Given the description of an element on the screen output the (x, y) to click on. 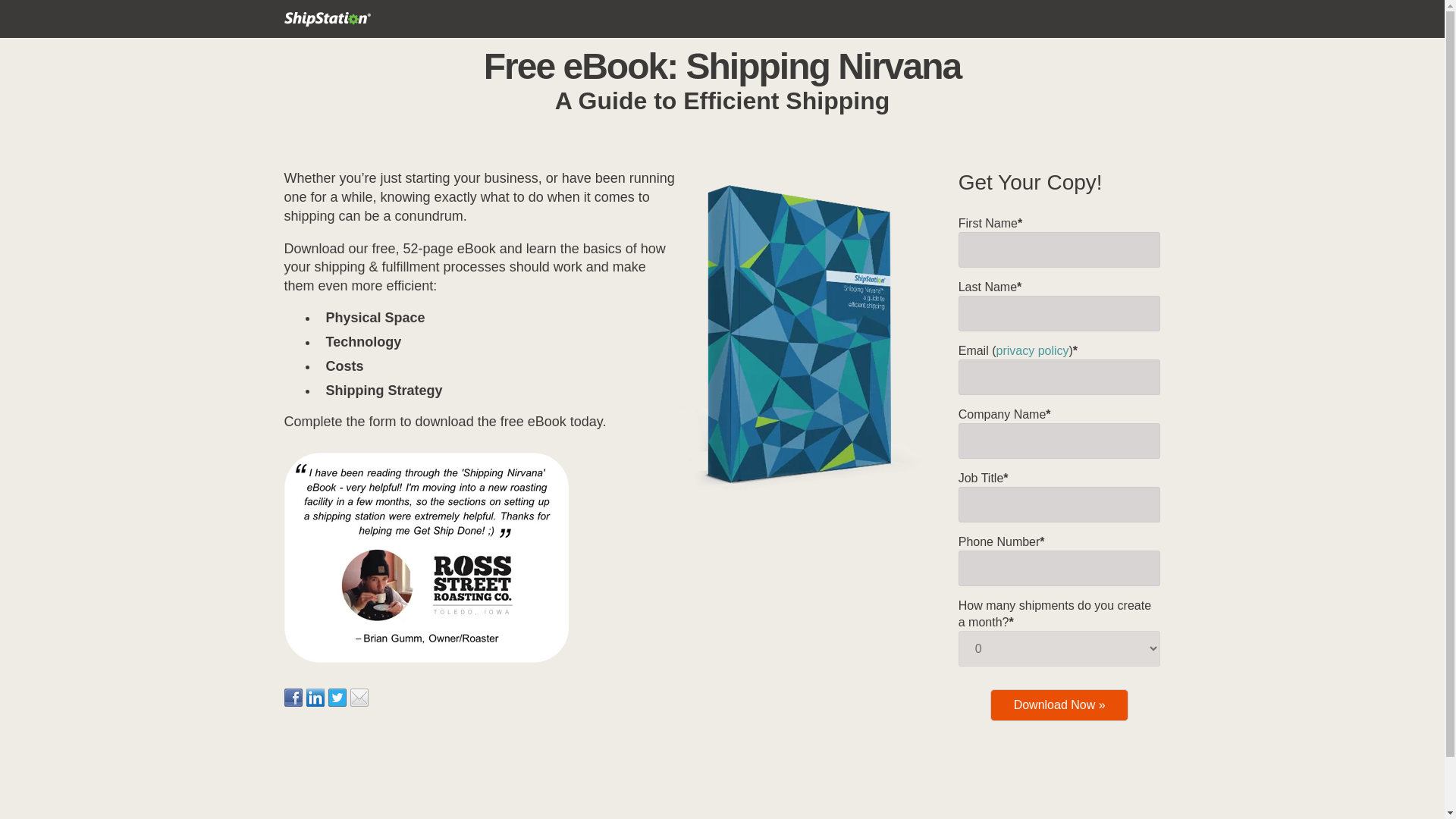
privacy policy (1031, 350)
ShipStation (330, 19)
Ross Street Roasting Co  - ShipStation Testimonial (425, 557)
